Given the description of an element on the screen output the (x, y) to click on. 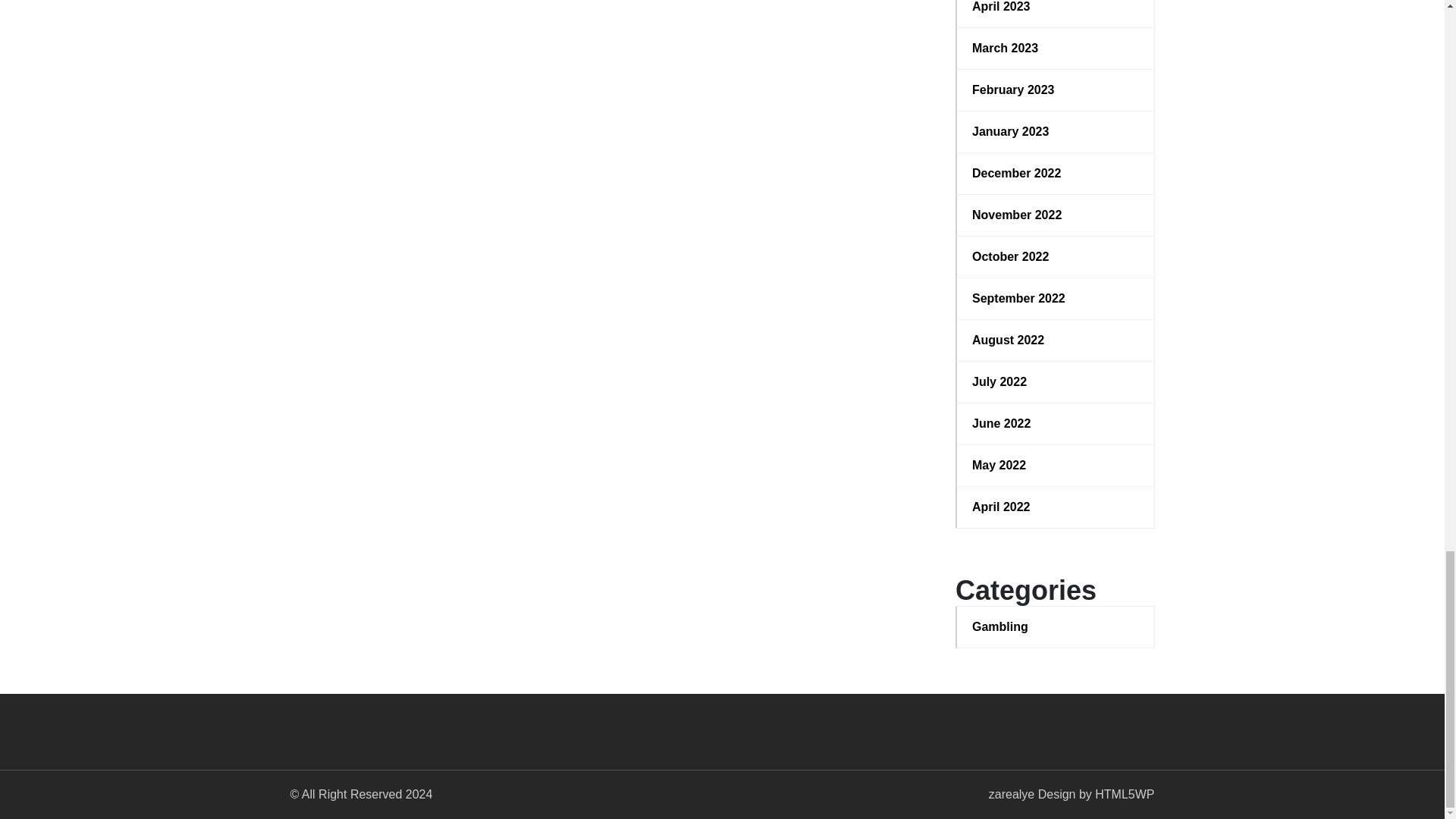
February 2023 (1055, 90)
April 2023 (1055, 7)
October 2022 (1055, 257)
December 2022 (1055, 173)
January 2023 (1055, 131)
November 2022 (1055, 215)
September 2022 (1055, 298)
March 2023 (1055, 48)
